Given the description of an element on the screen output the (x, y) to click on. 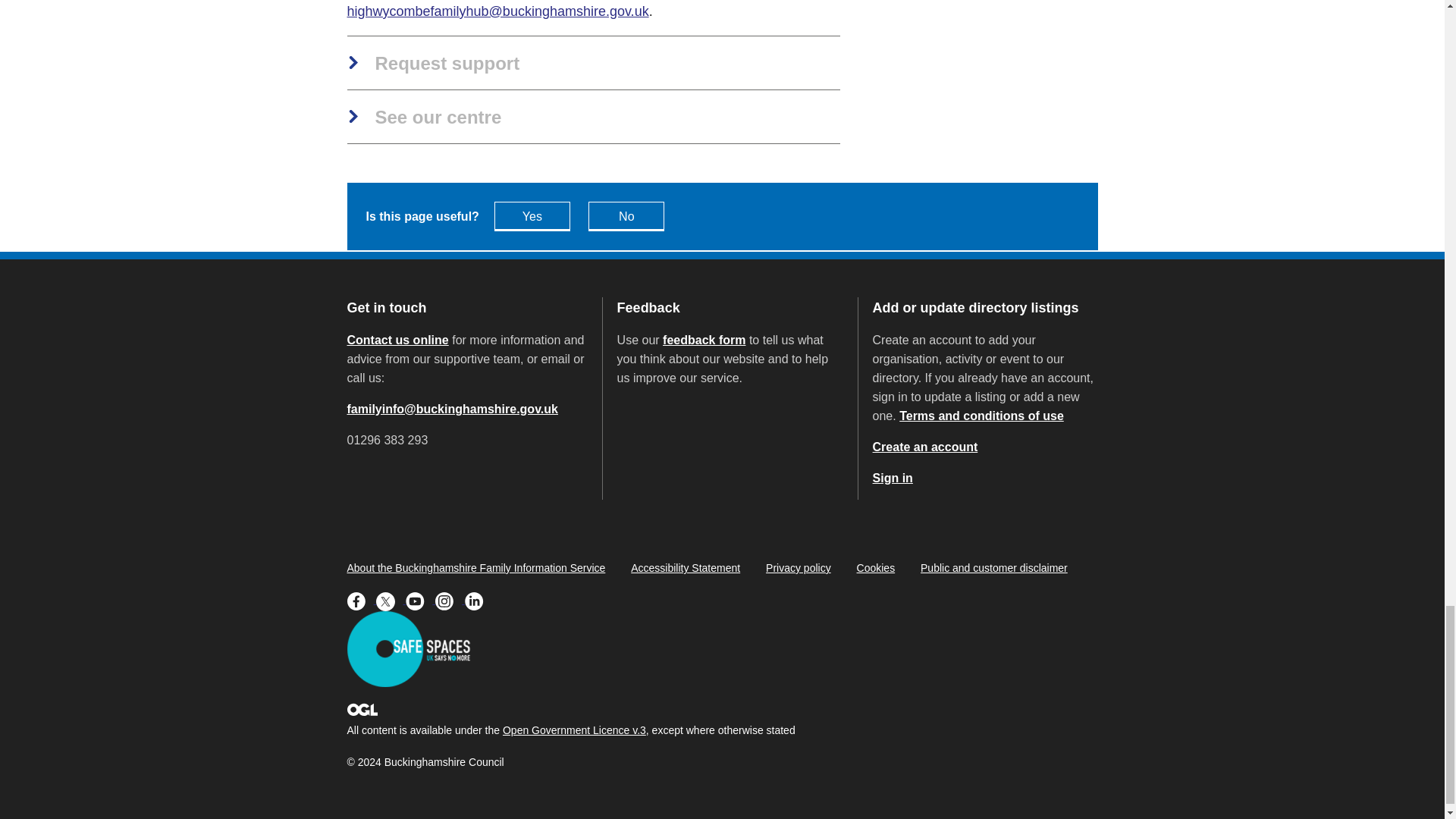
Yes (532, 215)
Privacy policy (798, 567)
No (625, 215)
See our centre (424, 118)
Request support (433, 64)
About the Buckinghamshire Family Information Service (476, 567)
Create an account (925, 446)
feedback form (703, 339)
Terms and conditions of use (981, 415)
Contact us online (397, 339)
